Given the description of an element on the screen output the (x, y) to click on. 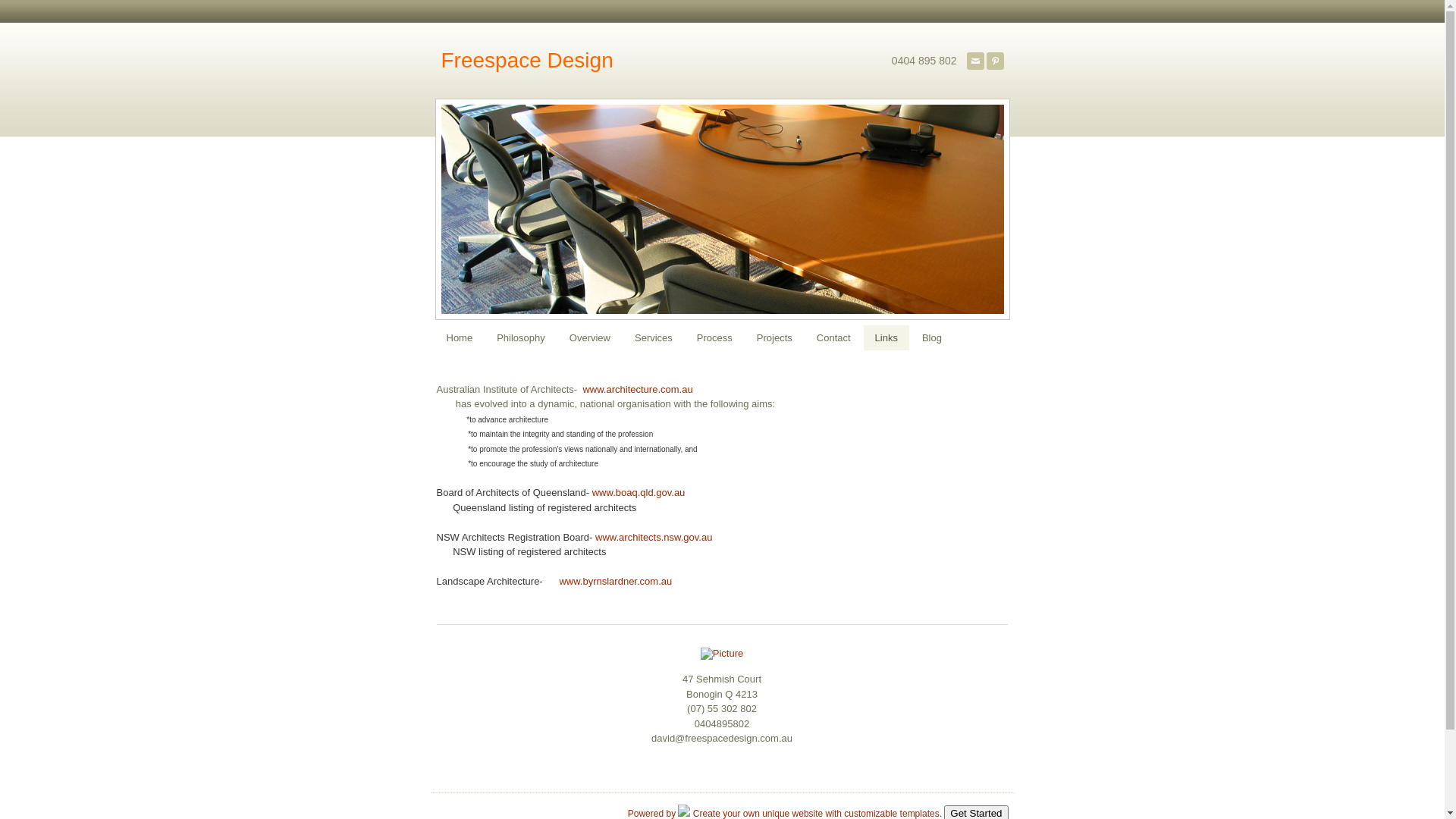
www.architects.nsw.gov.au Element type: text (653, 536)
Home Element type: text (459, 337)
Freespace Design Element type: text (527, 60)
Overview Element type: text (589, 337)
Contact Element type: text (833, 337)
Services Element type: text (653, 337)
Projects Element type: text (774, 337)
Process Element type: text (714, 337)
www.byrnslardner.com.au Element type: text (614, 580)
www.boaq.qld.gov.au Element type: text (638, 492)
www.architecture.com.au Element type: text (637, 389)
Blog Element type: text (931, 337)
Links Element type: text (886, 337)
Philosophy Element type: text (520, 337)
